Given the description of an element on the screen output the (x, y) to click on. 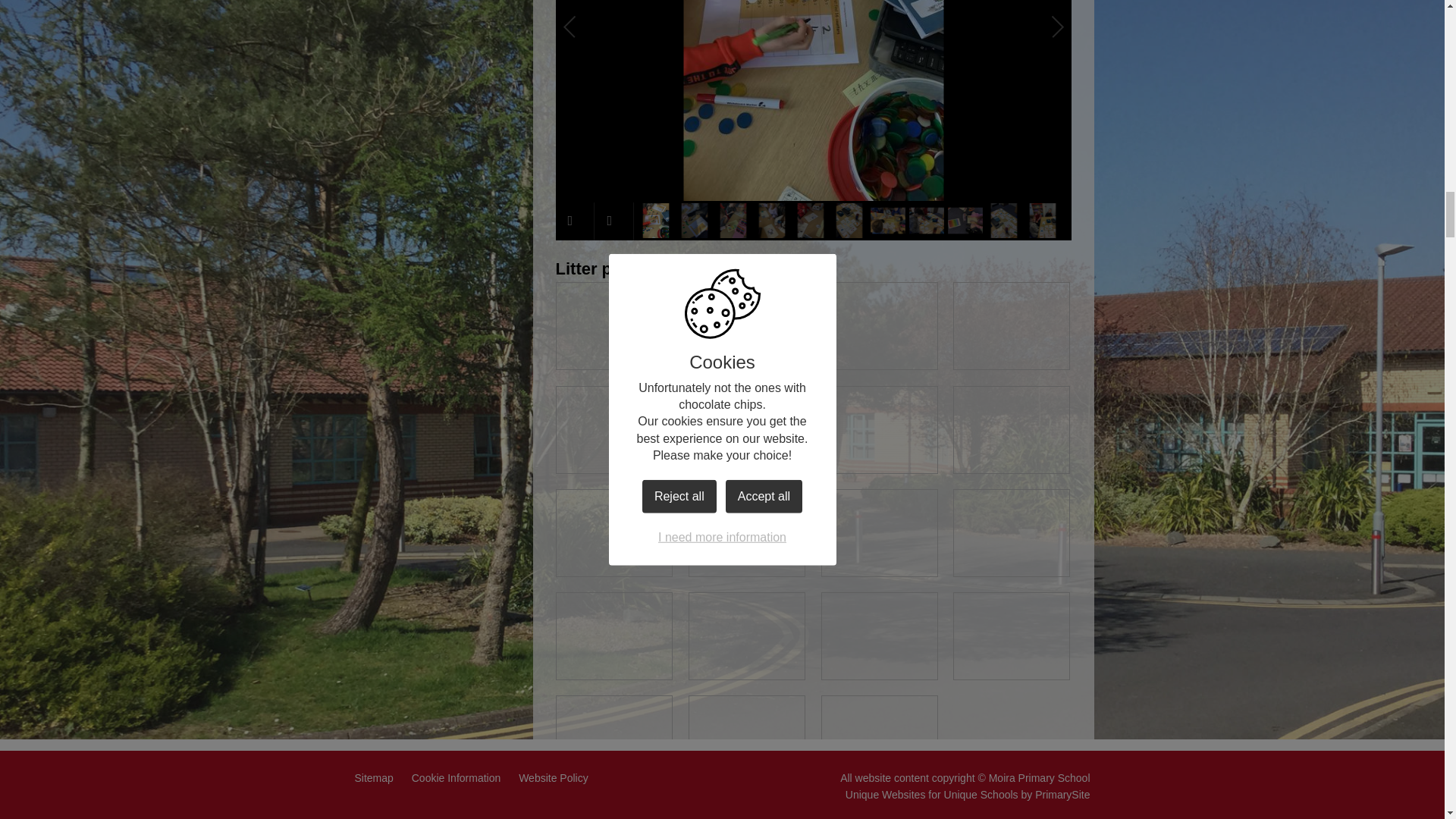
View large version of image (746, 325)
View large version of image (1011, 429)
View large version of image (613, 325)
View large version of image (879, 429)
View large version of image (879, 325)
View large version of image (746, 429)
View large version of image (1011, 325)
View large version of image (613, 532)
View large version of image (613, 429)
View large version of image (1011, 532)
View large version of image (879, 532)
View large version of image (746, 532)
